Given the description of an element on the screen output the (x, y) to click on. 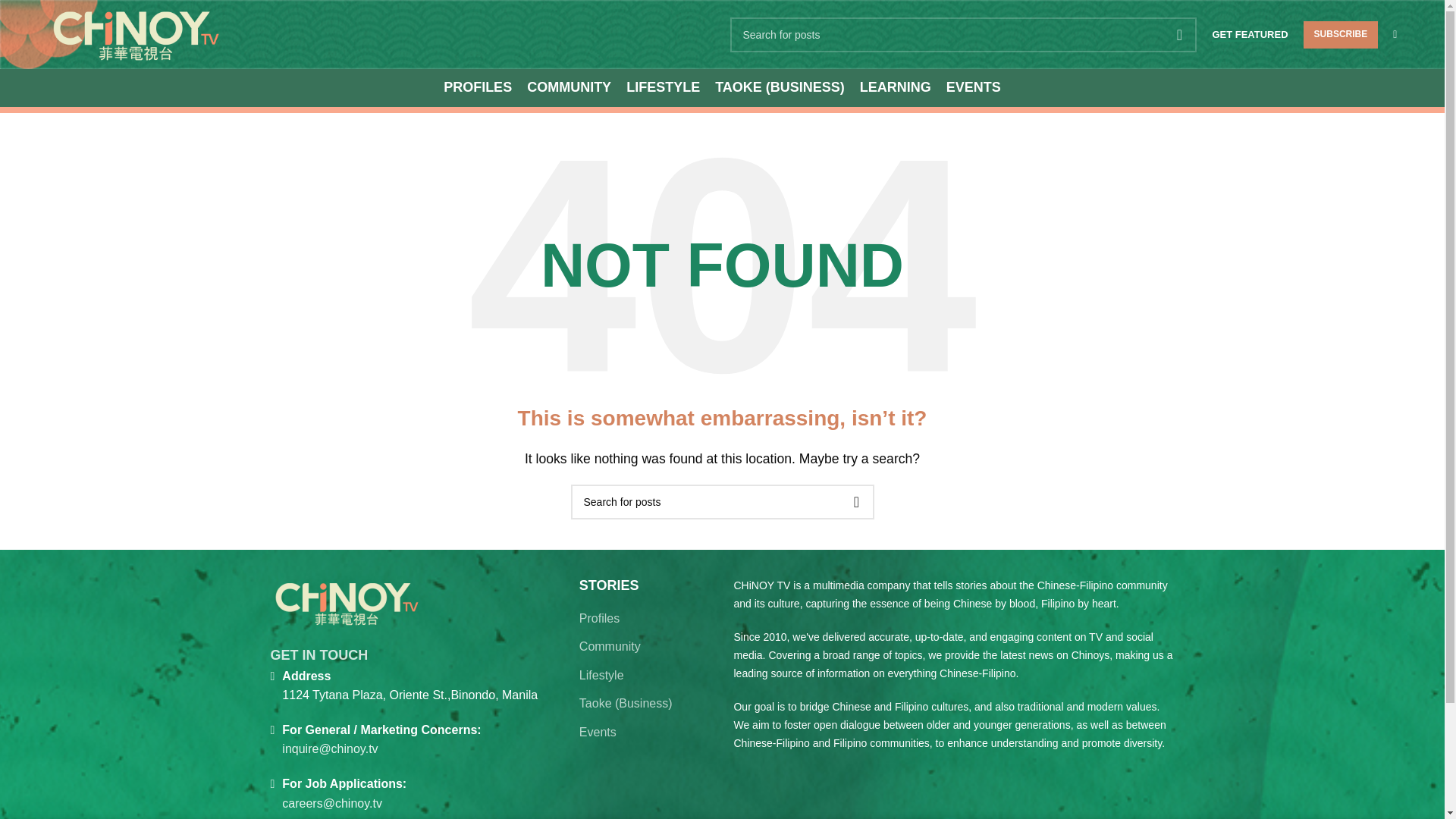
LIFESTYLE (663, 87)
Search for posts (721, 501)
SEARCH (855, 501)
Search for posts (962, 33)
PROFILES (478, 87)
Lifestyle (602, 675)
COMMUNITY (569, 87)
EVENTS (973, 87)
Community (610, 646)
SUBSCRIBE (1340, 34)
